Given the description of an element on the screen output the (x, y) to click on. 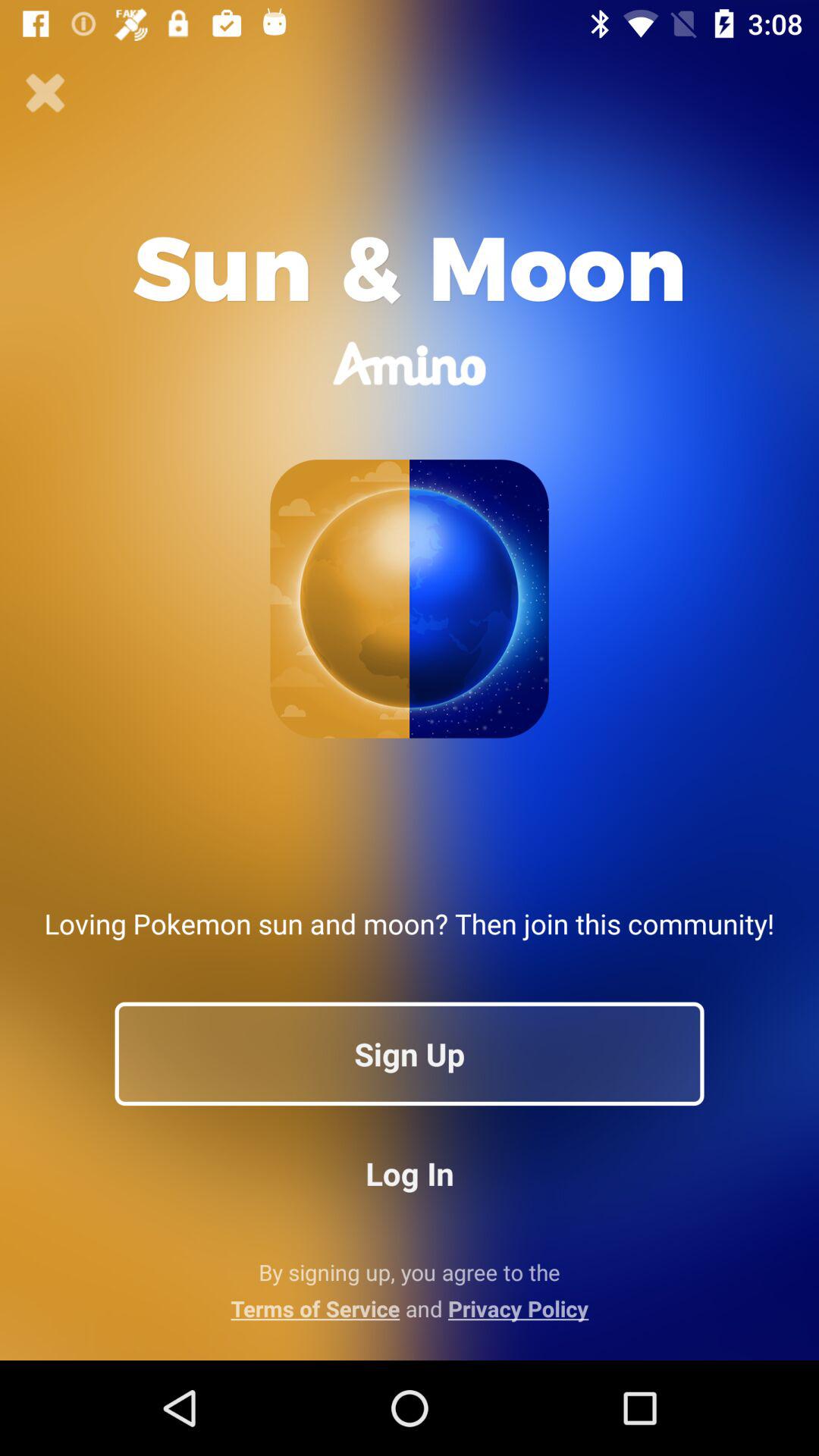
tap the item above the by signing up icon (409, 1173)
